Given the description of an element on the screen output the (x, y) to click on. 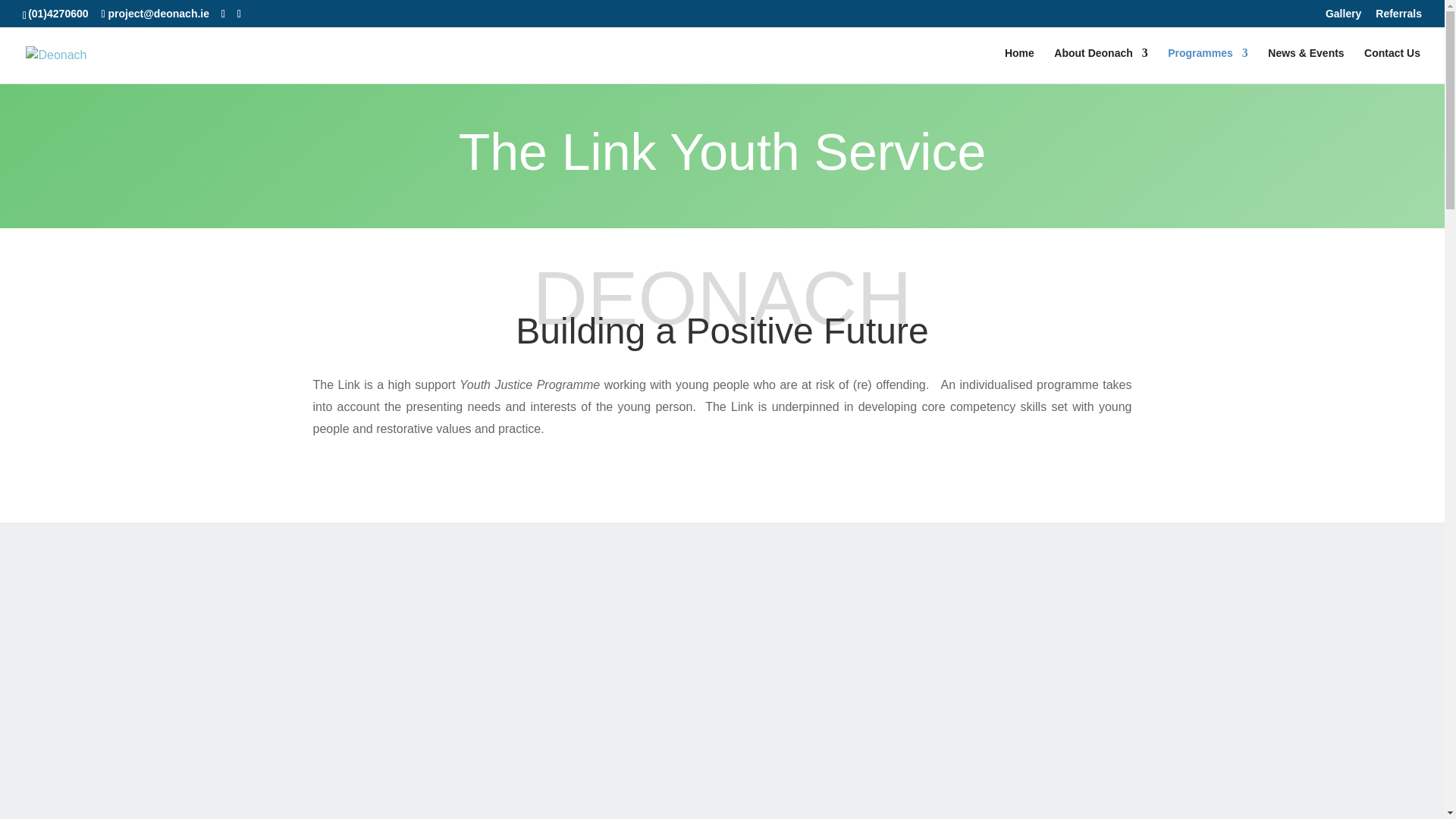
Programmes (1207, 65)
Contact Us (1392, 65)
Referrals (1398, 16)
Gallery (1342, 16)
About Deonach (1100, 65)
